Given the description of an element on the screen output the (x, y) to click on. 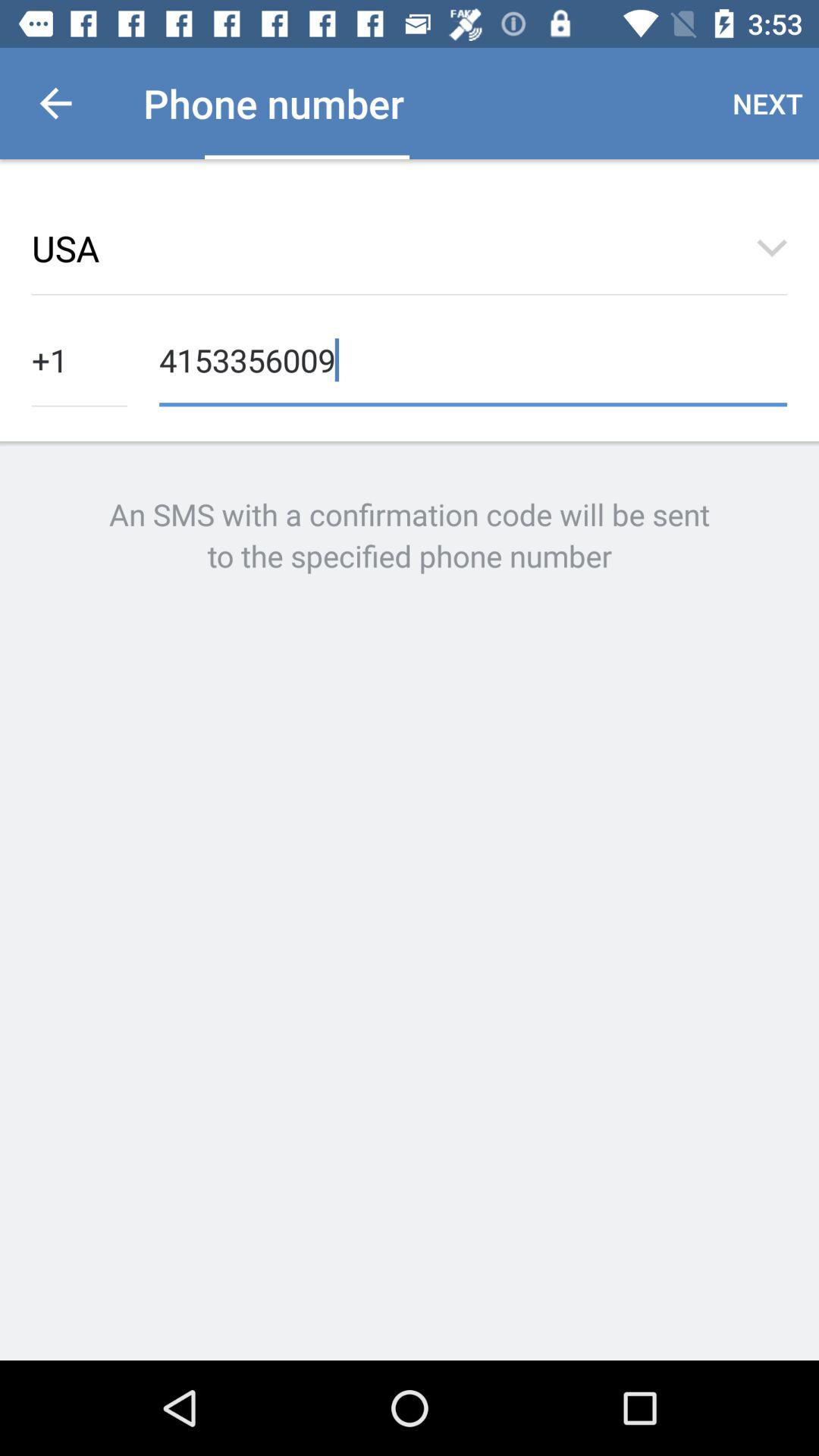
select the item below usa icon (79, 358)
